Given the description of an element on the screen output the (x, y) to click on. 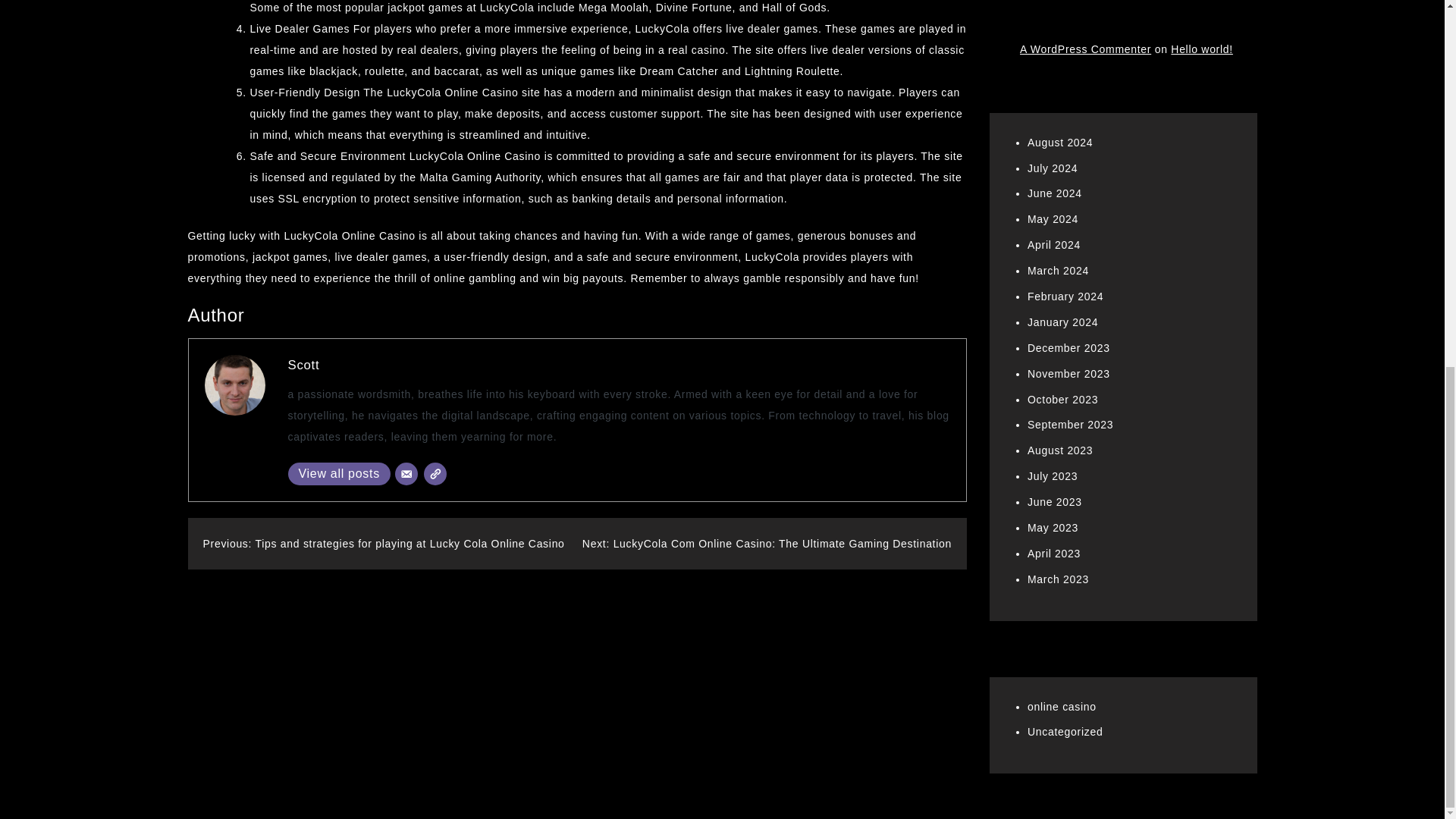
November 2023 (1068, 373)
October 2023 (1062, 399)
December 2023 (1068, 347)
June 2024 (1054, 193)
July 2024 (1052, 168)
Hello world! (1201, 49)
June 2023 (1054, 501)
July 2023 (1052, 476)
January 2024 (1062, 322)
September 2023 (1070, 424)
